Given the description of an element on the screen output the (x, y) to click on. 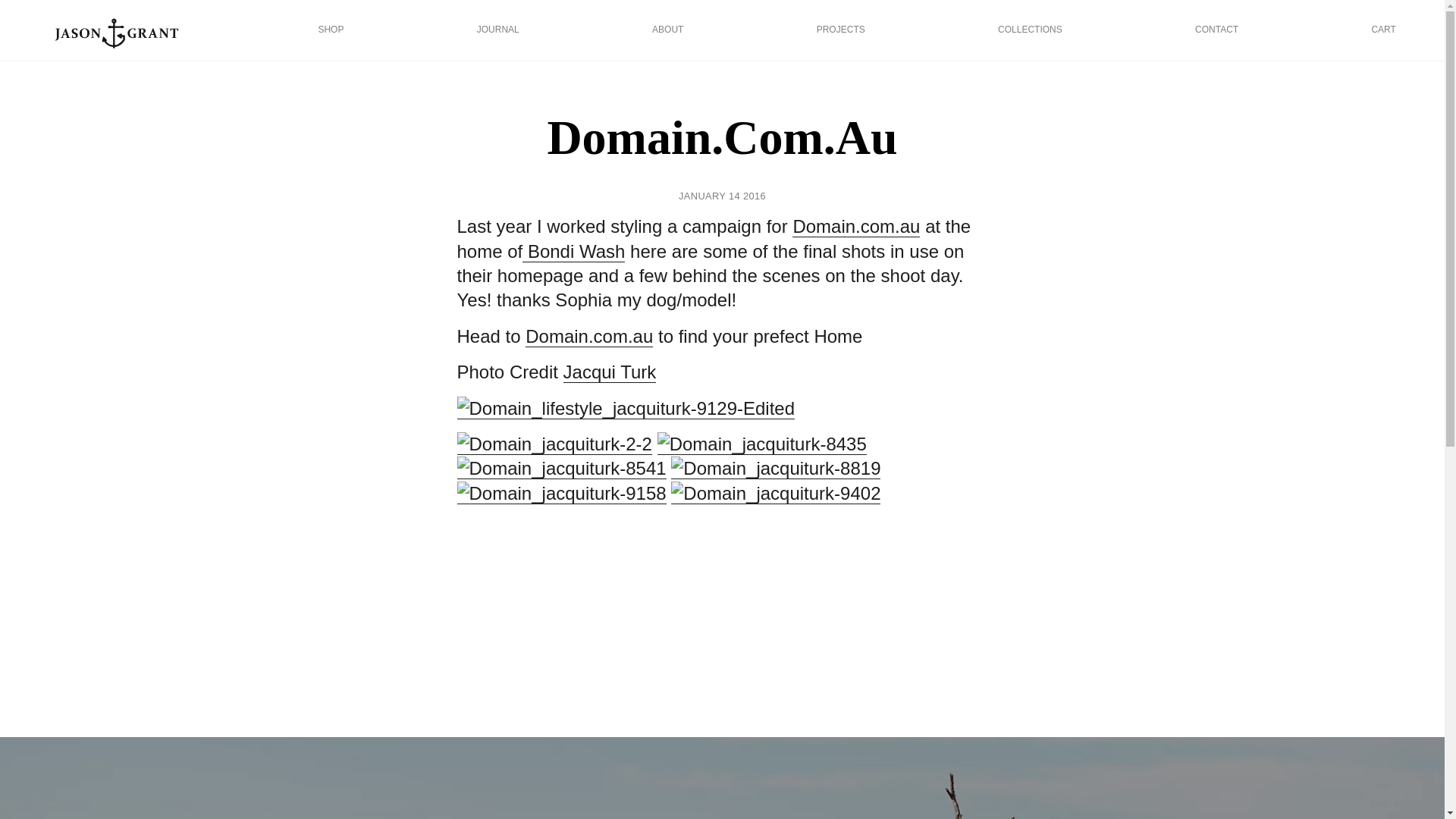
SHOP (330, 29)
JOURNAL (498, 29)
ABOUT (667, 29)
PROJECTS (840, 29)
CONTACT (1217, 29)
COLLECTIONS (1029, 29)
